Given the description of an element on the screen output the (x, y) to click on. 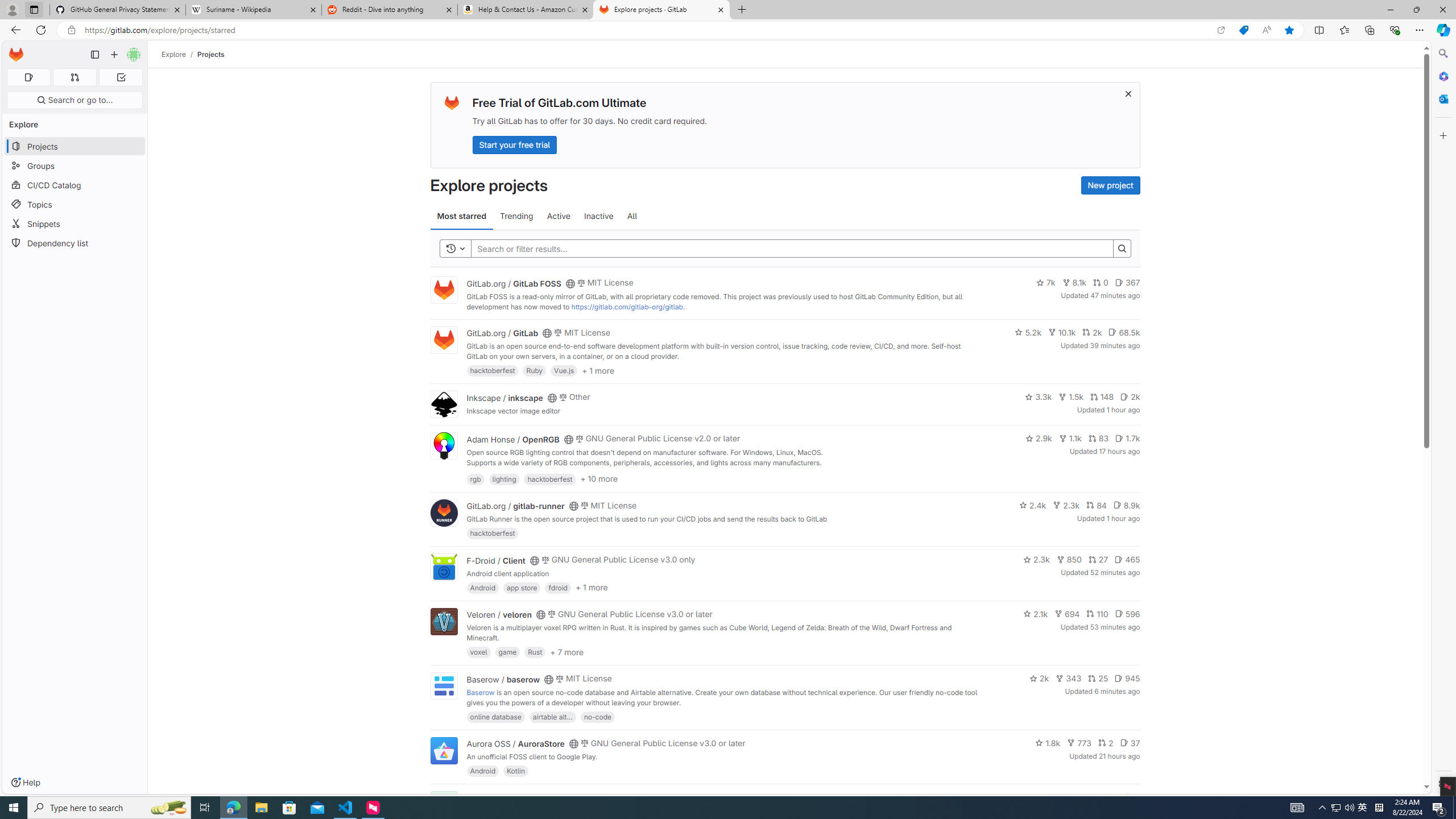
https://gitlab.com/gitlab-org/gitlab (626, 306)
All (632, 216)
Kotlin (515, 770)
GitLab.org / GitLab FOSS (513, 283)
Baserow (480, 691)
airtable alt... (552, 715)
Create new... (113, 54)
Trending (516, 216)
1.1k (1069, 438)
Inactive (598, 216)
1 (1111, 797)
